Given the description of an element on the screen output the (x, y) to click on. 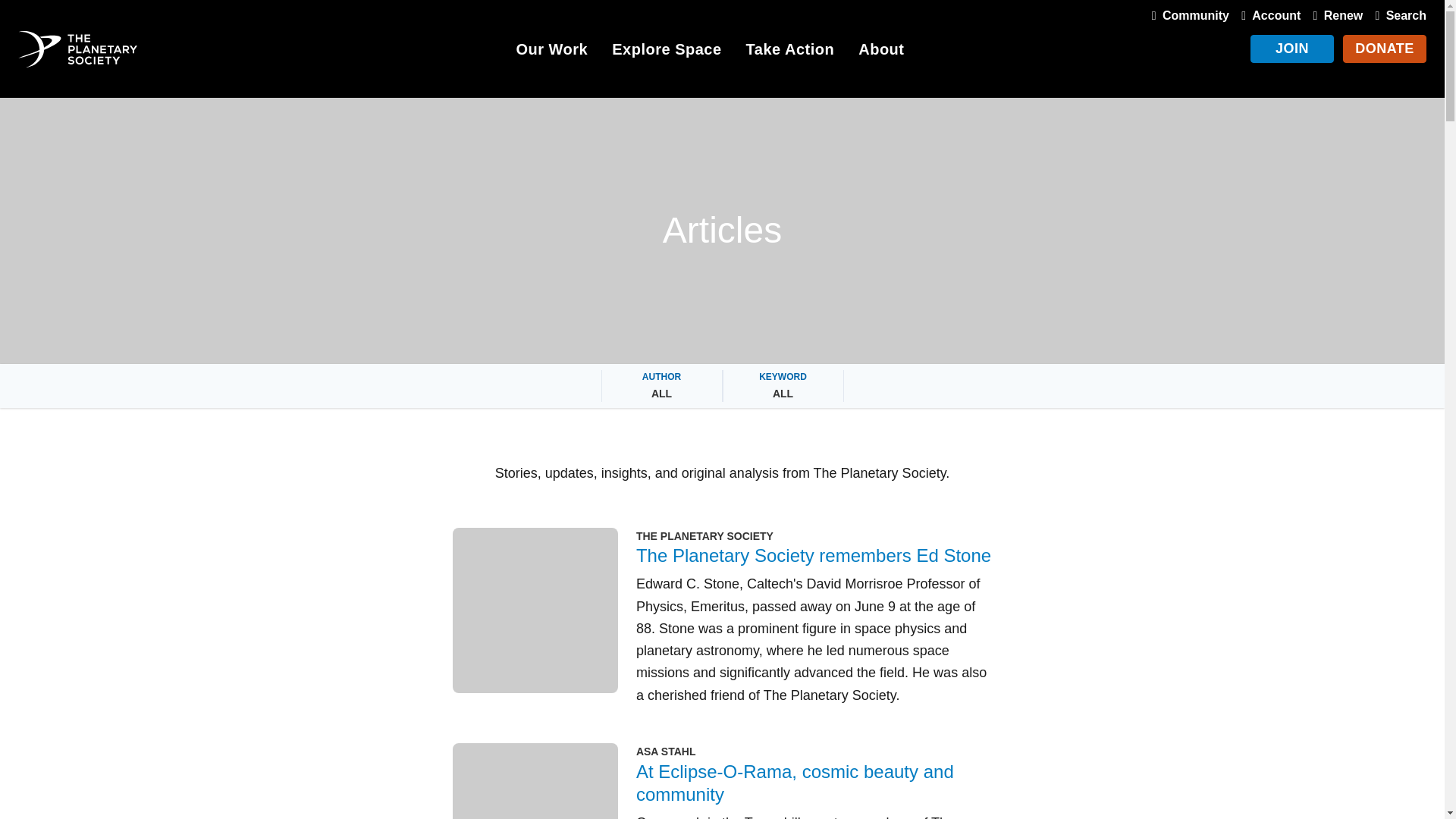
Explore Space (665, 51)
Community (1186, 15)
JOIN (1291, 49)
Account (1267, 15)
DONATE (1384, 49)
About (881, 51)
Take Action (789, 51)
Renew (1334, 15)
Search (1397, 15)
Our Work (551, 51)
